Given the description of an element on the screen output the (x, y) to click on. 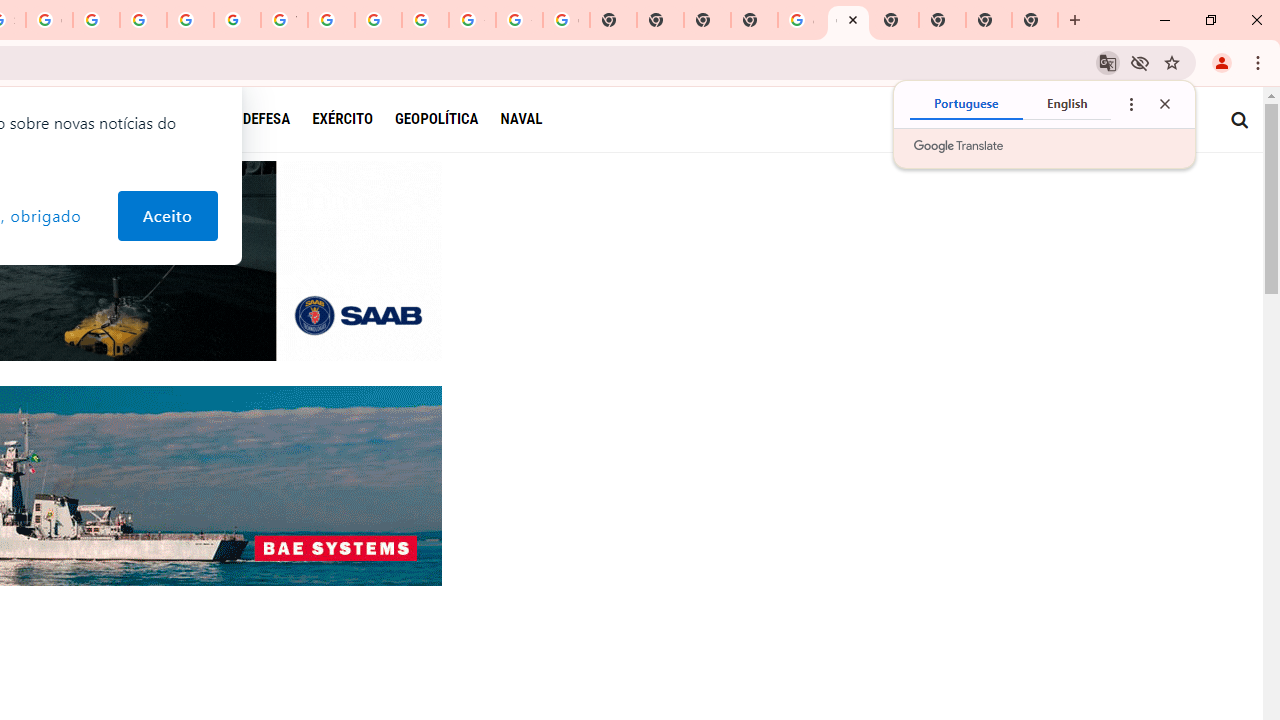
DEFESA (265, 117)
AutomationID: menu-item-105100 (353, 119)
New Tab (754, 20)
AutomationID: menu-item-105114 (113, 119)
